Given the description of an element on the screen output the (x, y) to click on. 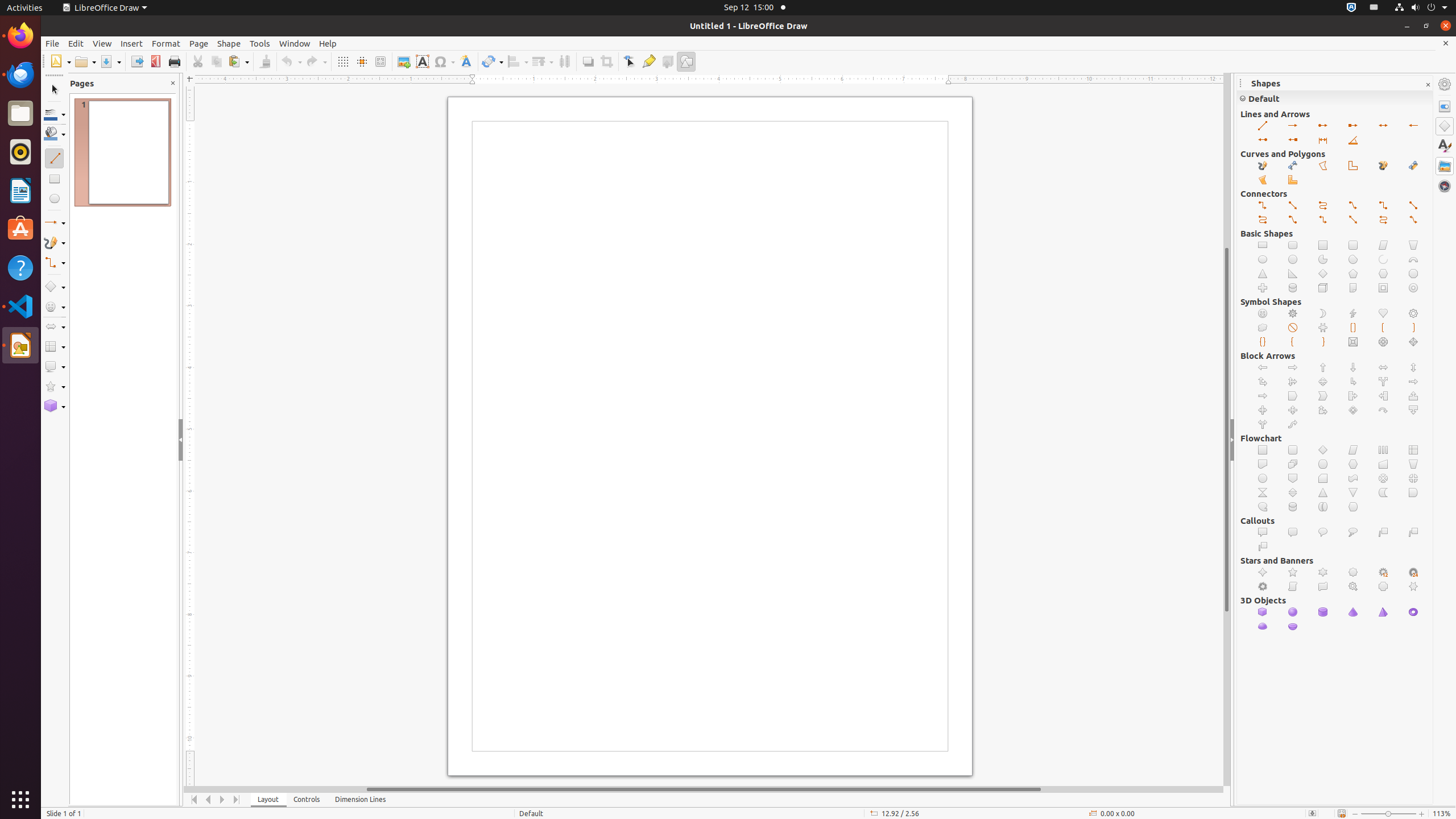
Line Starts with Arrow Element type: list-item (1413, 125)
Text Box Element type: push-button (421, 61)
Striped Right Arrow Element type: list-item (1413, 381)
Square Element type: list-item (1323, 245)
Up and Right Arrow Callout Element type: list-item (1323, 410)
